Given the description of an element on the screen output the (x, y) to click on. 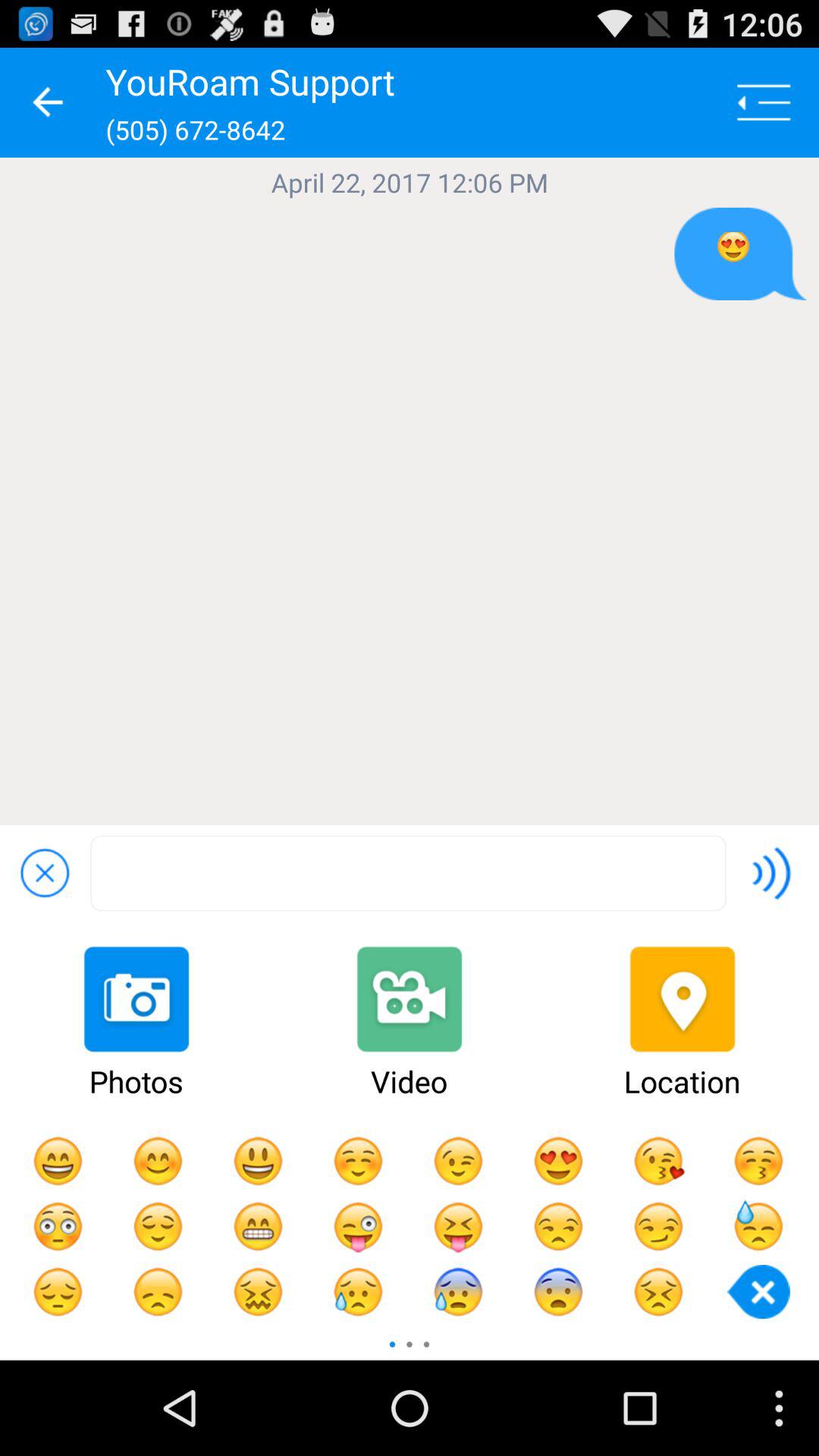
message text box (408, 873)
